Given the description of an element on the screen output the (x, y) to click on. 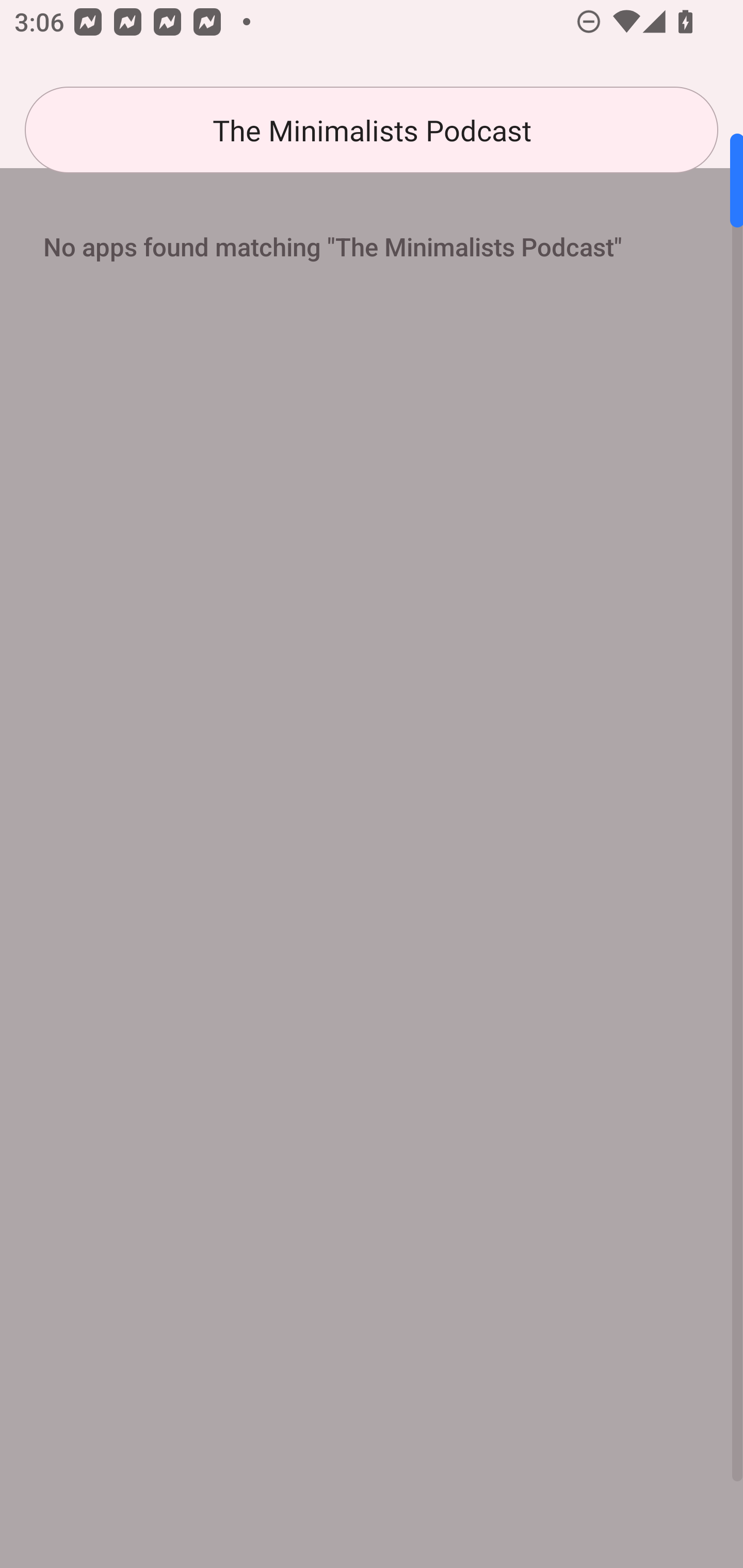
The Minimalists Podcast (371, 130)
